Given the description of an element on the screen output the (x, y) to click on. 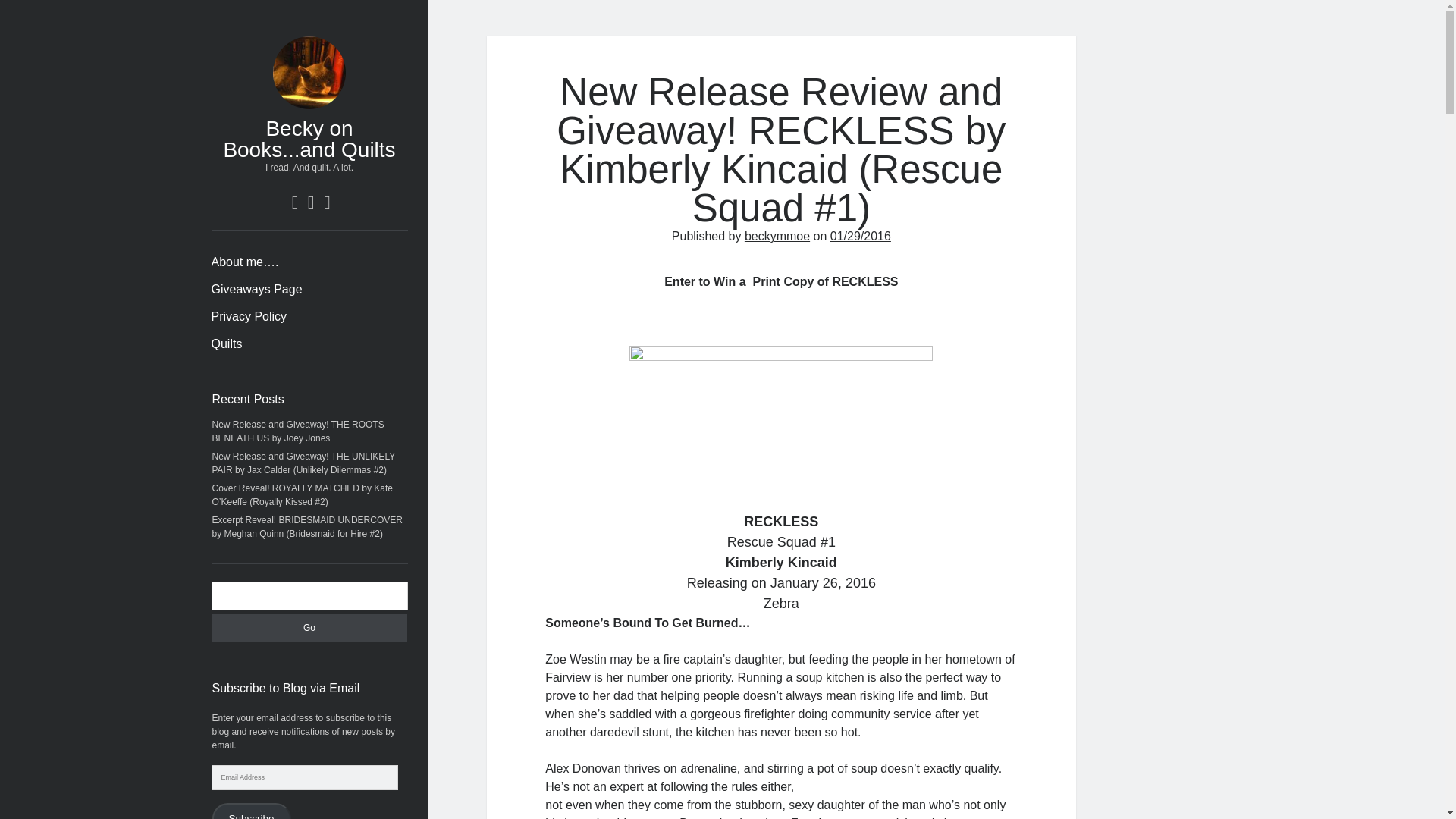
Privacy Policy (248, 316)
Becky on Books...and Quilts (308, 139)
Go (309, 628)
Quilts (226, 343)
Go (309, 628)
Subscribe (251, 811)
Giveaways Page (256, 289)
New Release and Giveaway! THE ROOTS BENEATH US by Joey Jones (298, 431)
Go (309, 628)
Search for: (309, 595)
